Given the description of an element on the screen output the (x, y) to click on. 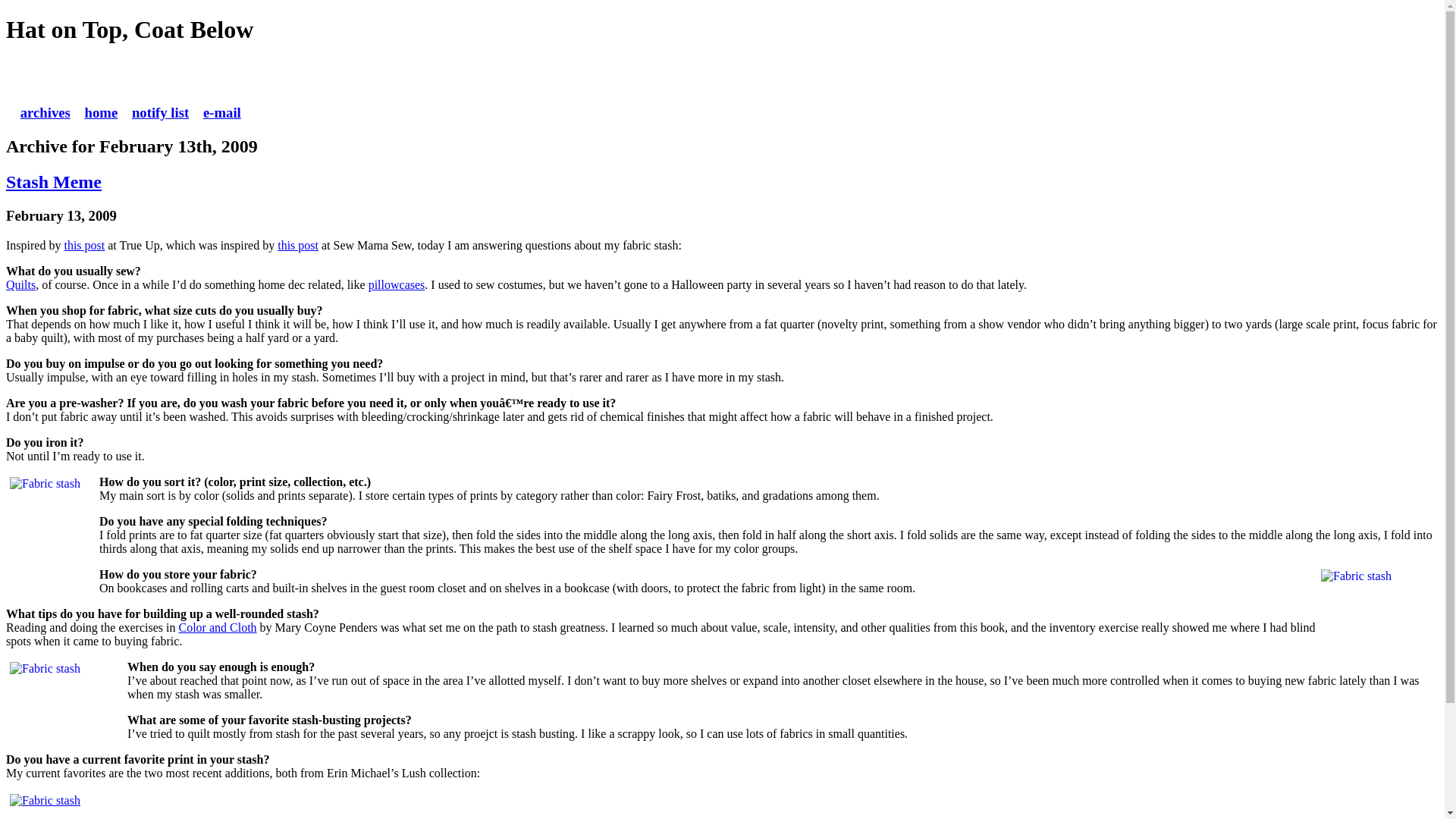
Color and Cloth (218, 626)
this post (298, 245)
this post (84, 245)
notify list (160, 112)
pillowcases (396, 284)
Stash Meme (53, 181)
archives (44, 112)
Quilts (19, 284)
home (100, 112)
e-mail (222, 112)
